Given the description of an element on the screen output the (x, y) to click on. 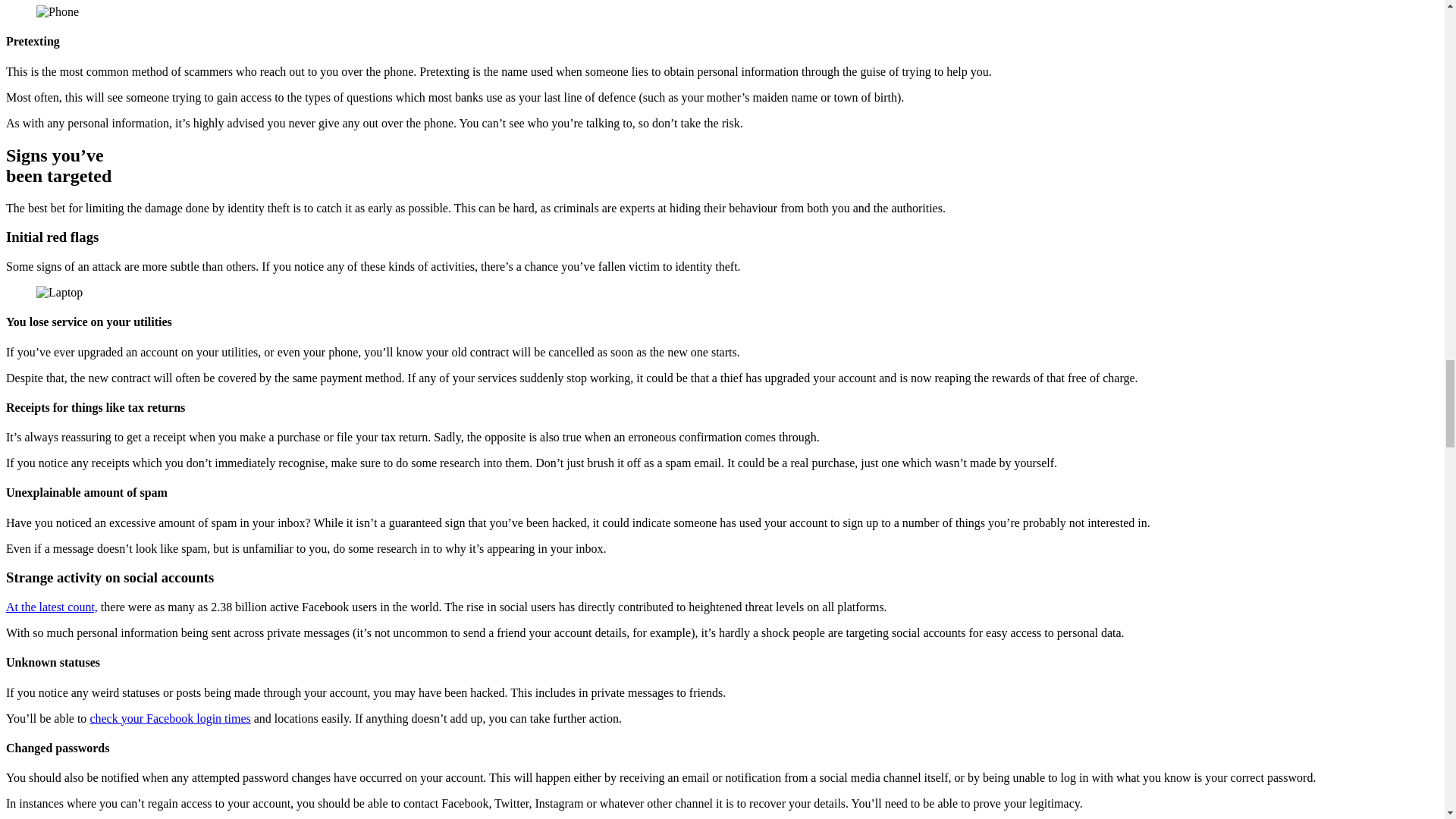
At the latest count, (51, 606)
check your Facebook login times (169, 717)
